Given the description of an element on the screen output the (x, y) to click on. 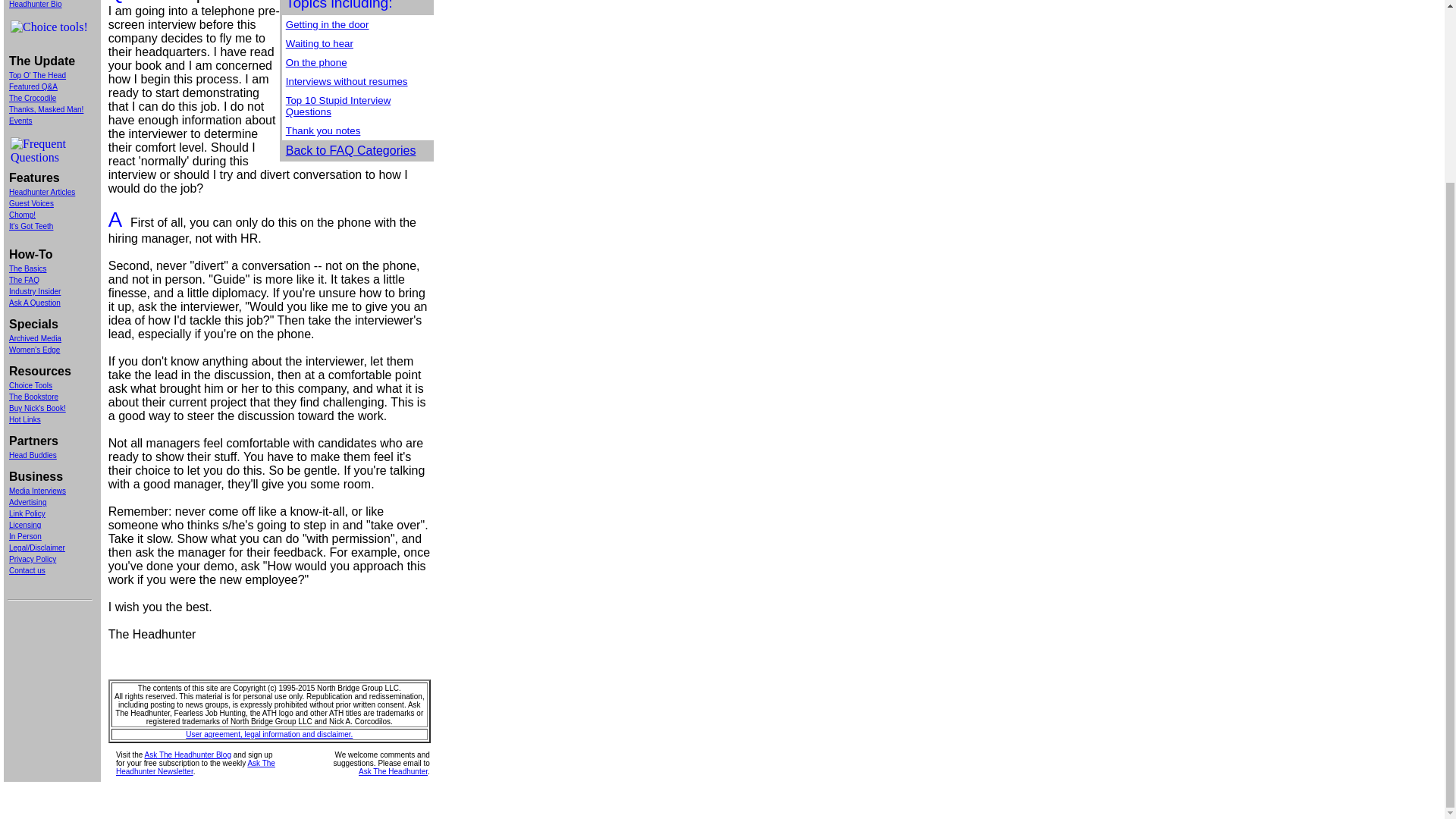
Getting in the door (327, 23)
Link Policy (26, 513)
Choice Tools (30, 385)
In Person (25, 536)
Buy Nick's Book! (36, 408)
Privacy Policy (32, 559)
Headhunter Articles (41, 192)
Hot Links (24, 419)
Advertising (27, 501)
The FAQ (23, 280)
Events (20, 121)
Archived Media (34, 338)
Licensing (24, 524)
Ask A Question (34, 302)
Contact us (26, 570)
